Given the description of an element on the screen output the (x, y) to click on. 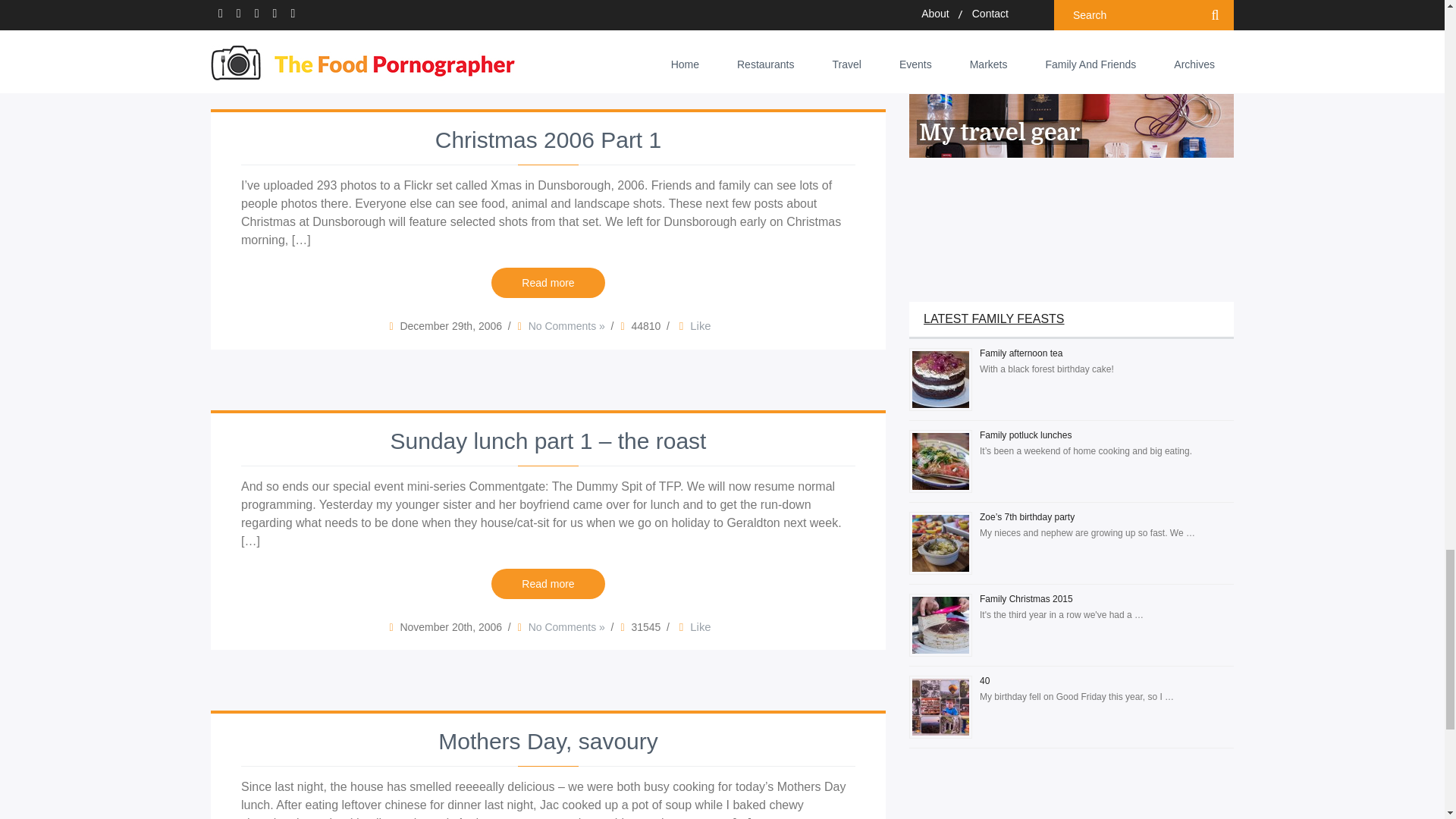
Like (693, 326)
Like (686, 25)
Permanent Link to Christmas 2006 Part 1 (548, 140)
